Given the description of an element on the screen output the (x, y) to click on. 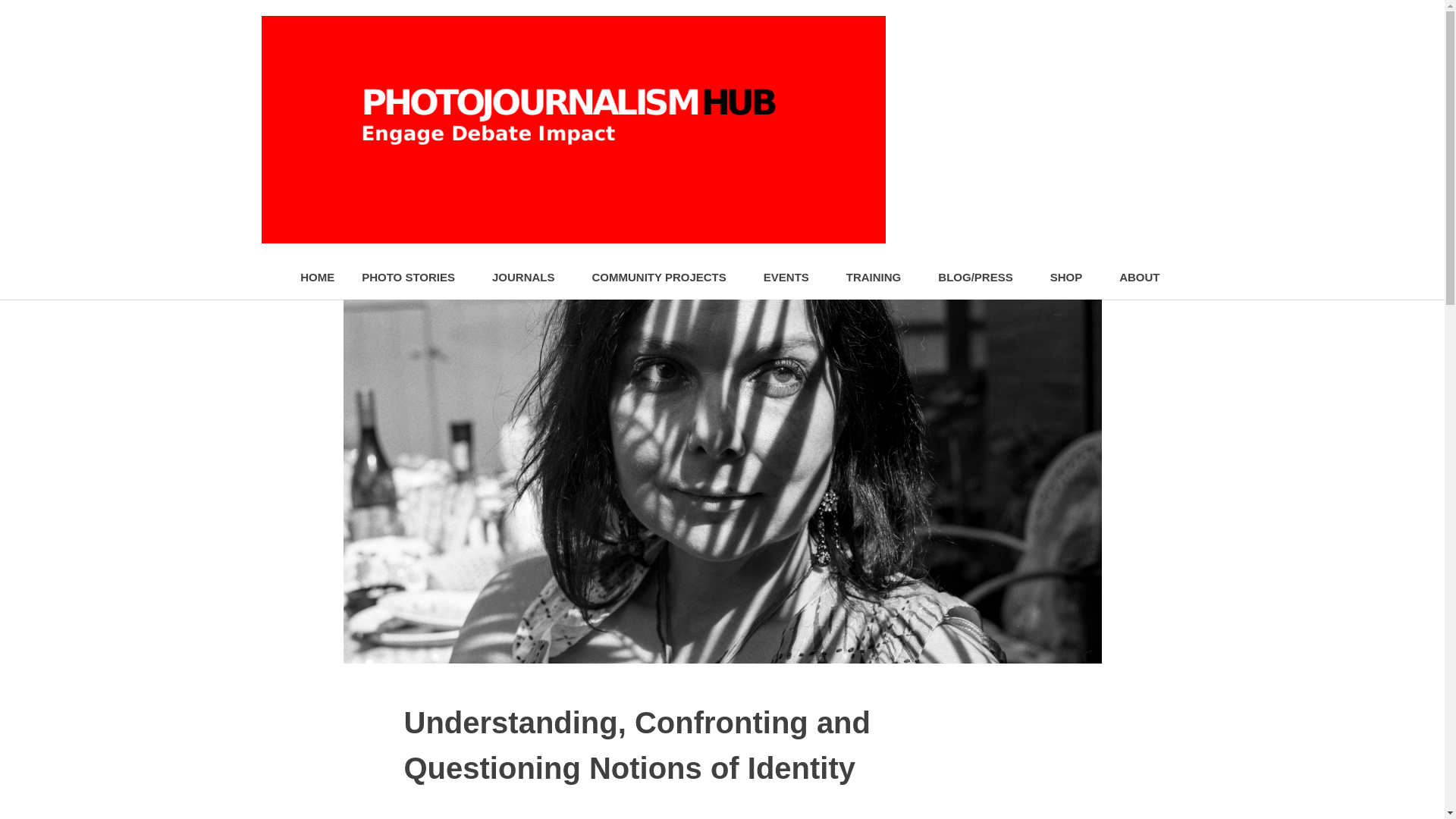
HOME (316, 277)
PHOTO STORIES (413, 277)
